Given the description of an element on the screen output the (x, y) to click on. 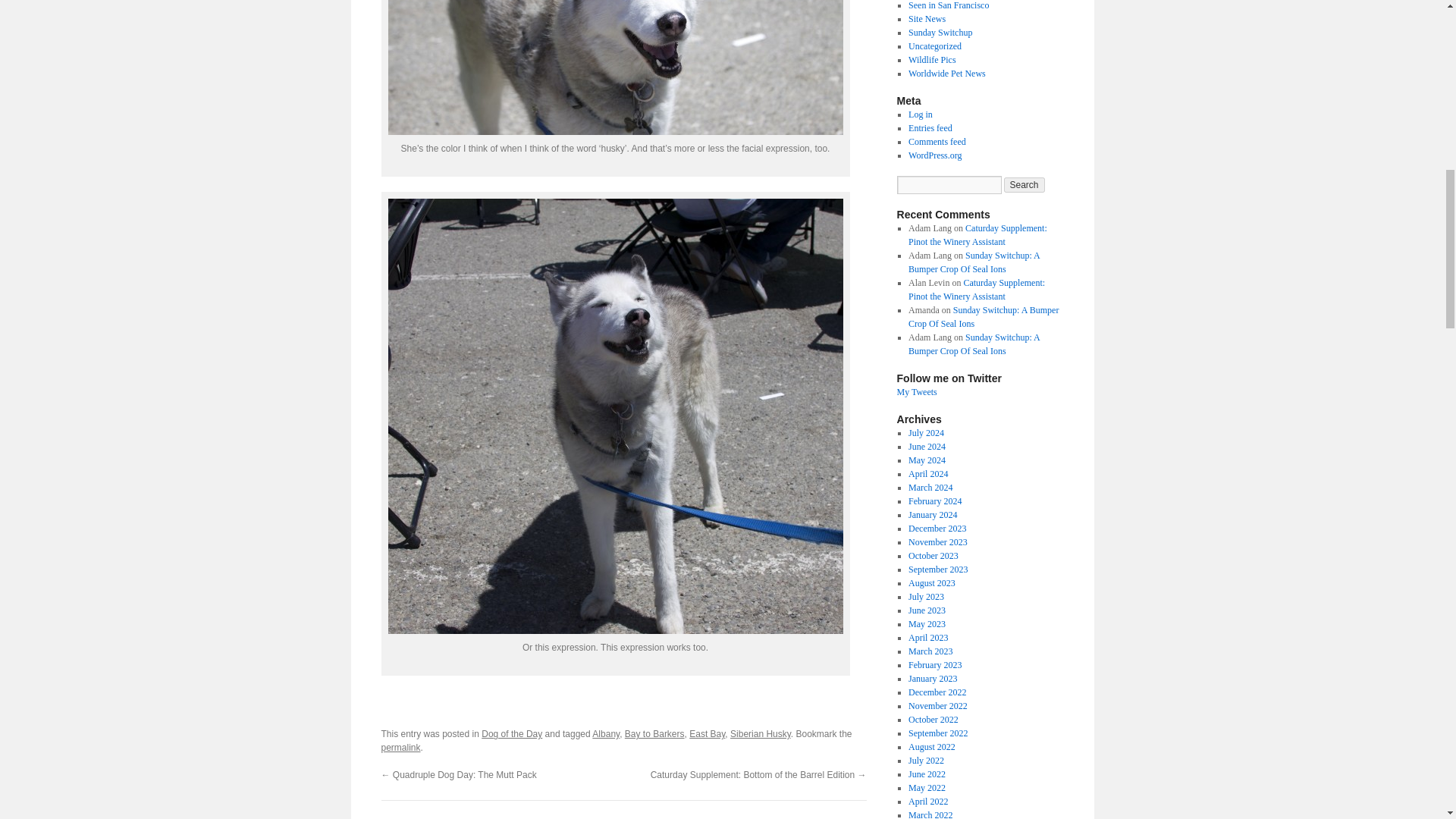
Siberian Husky (760, 733)
Search (1024, 184)
East Bay (706, 733)
permalink (400, 747)
Dog of the Day (511, 733)
Bay to Barkers (654, 733)
Albany (606, 733)
Permalink to Dog of the Day: Petite Husky (400, 747)
